Given the description of an element on the screen output the (x, y) to click on. 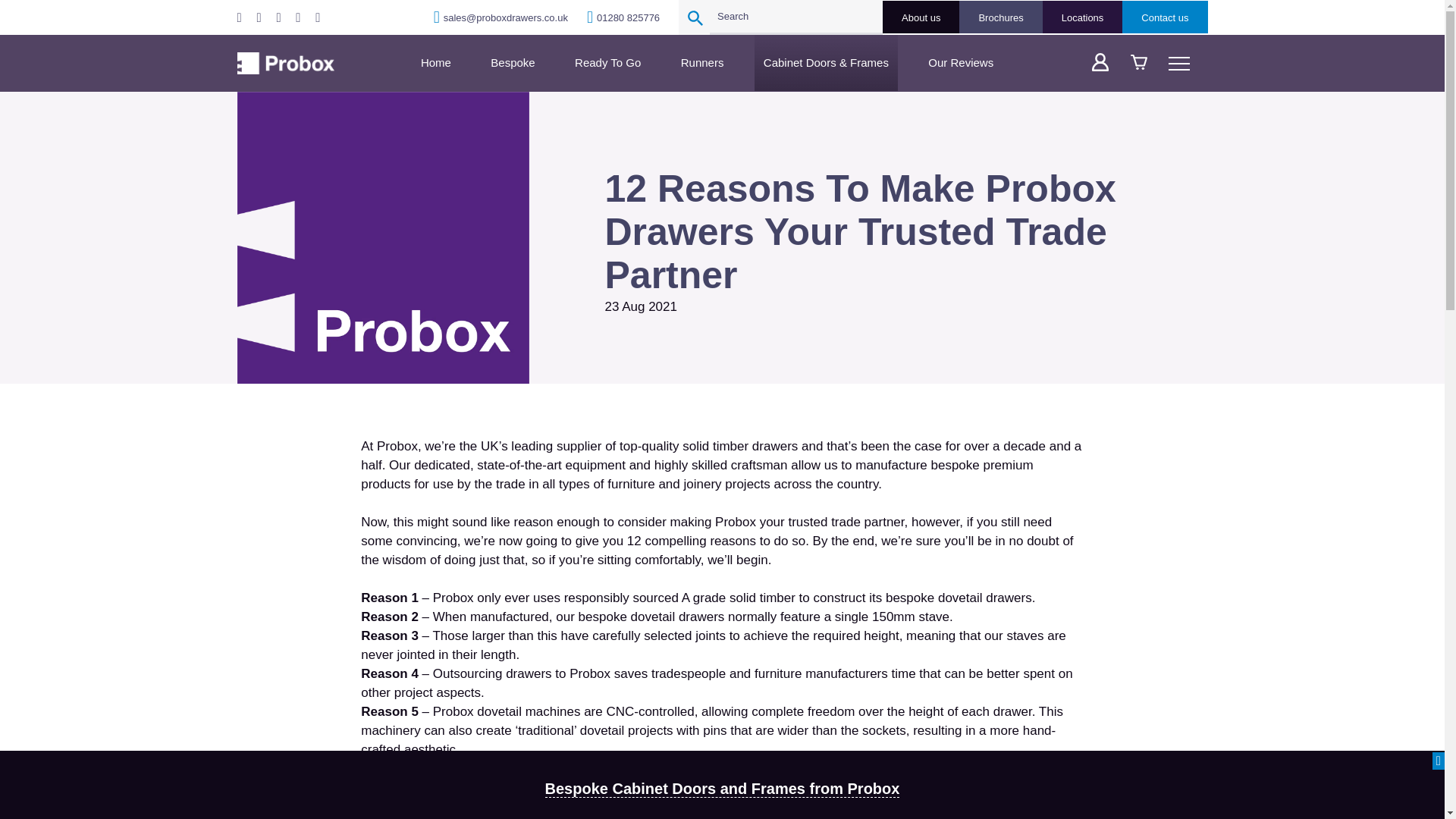
Our Reviews (960, 62)
Probox (284, 63)
Brochures (1000, 16)
Search for: (796, 16)
Runners (702, 62)
Contact us (1164, 16)
01280 825776 (622, 16)
Ready To Go (607, 62)
About us (920, 16)
Bespoke (512, 62)
